Given the description of an element on the screen output the (x, y) to click on. 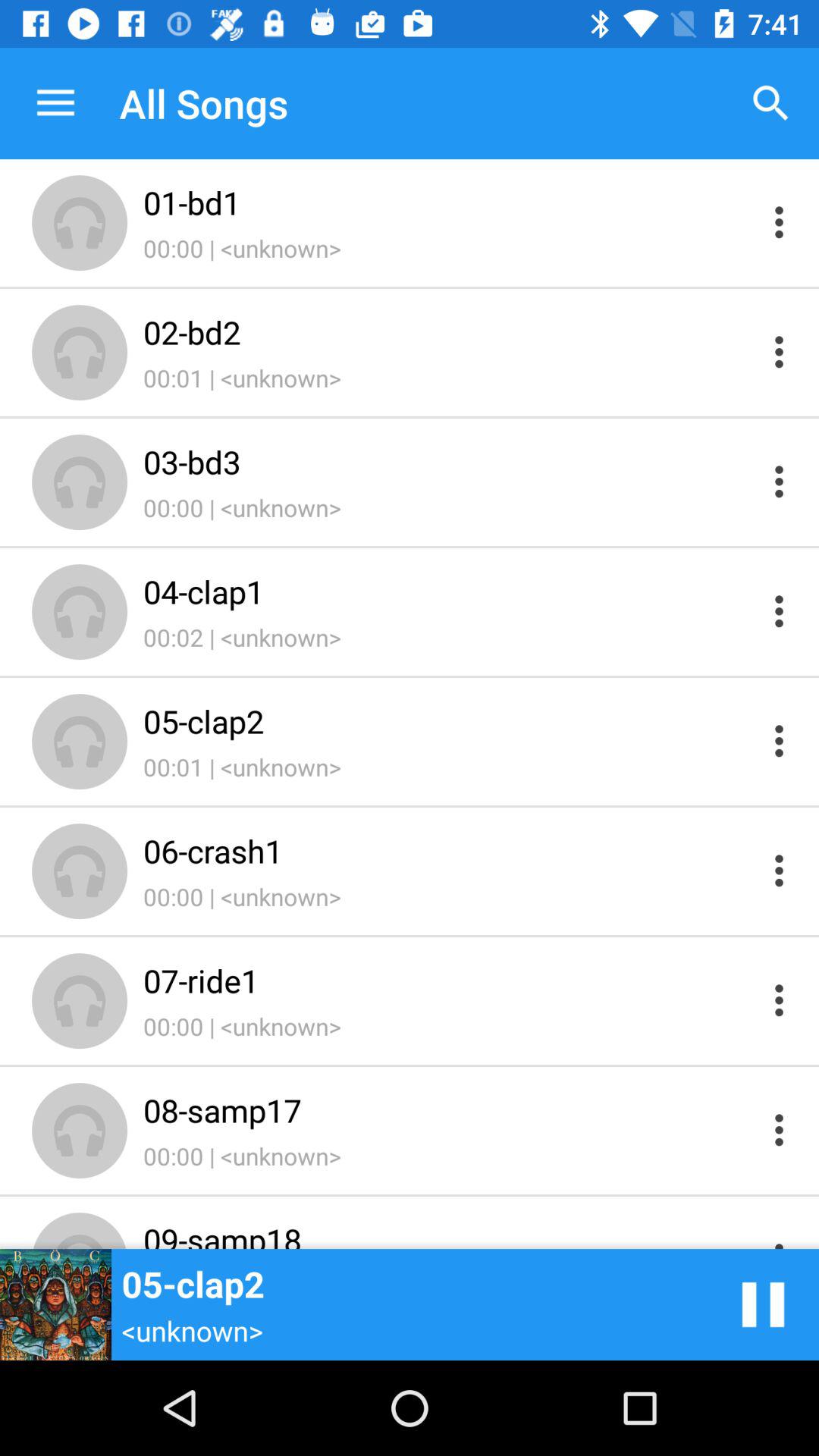
open options (779, 222)
